Given the description of an element on the screen output the (x, y) to click on. 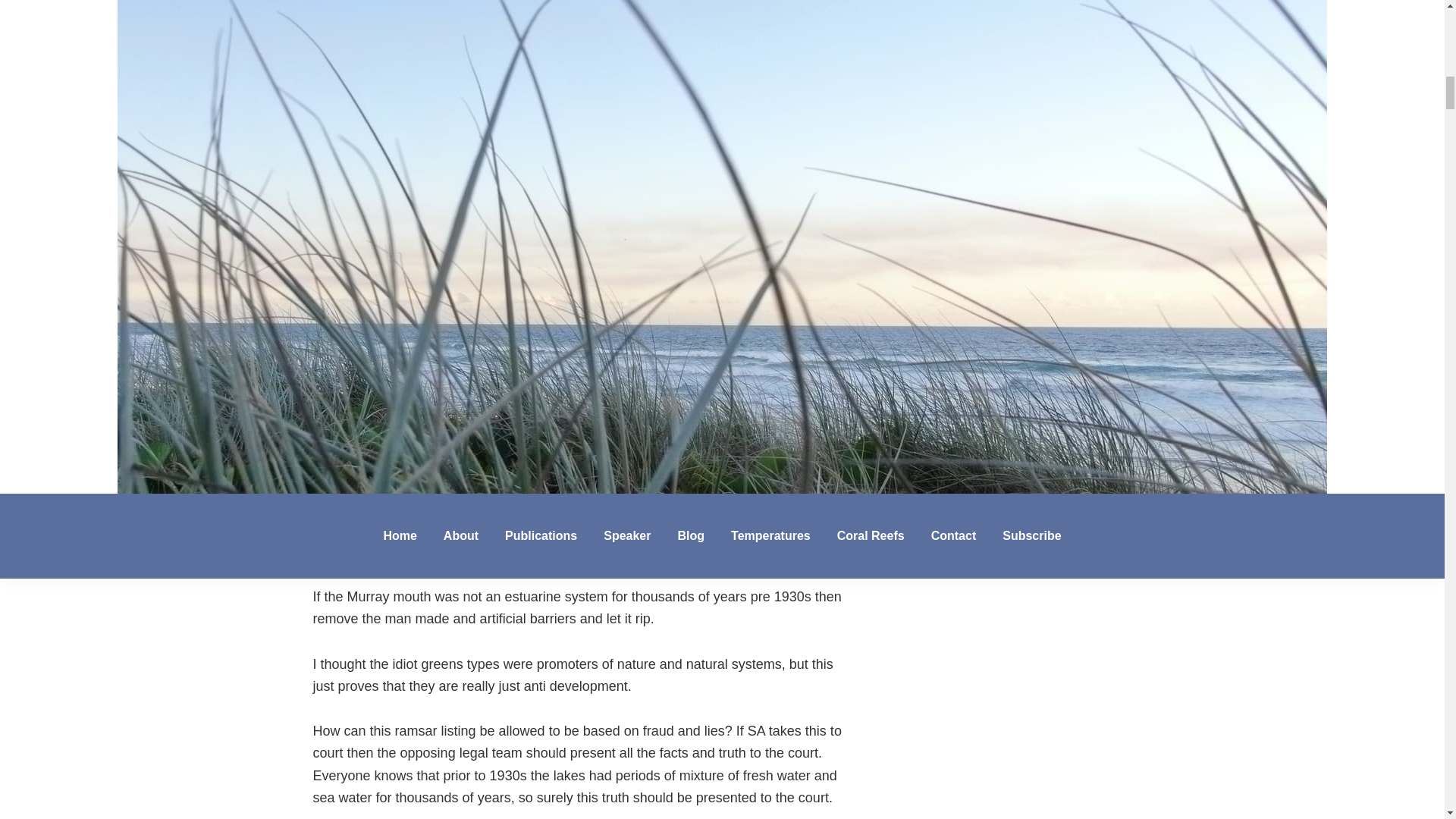
Murray River (422, 186)
April 14, 2012 at 8:46 am (445, 551)
Opinion (470, 166)
April 14, 2012 at 8:11 am (445, 342)
Information (411, 166)
